Given the description of an element on the screen output the (x, y) to click on. 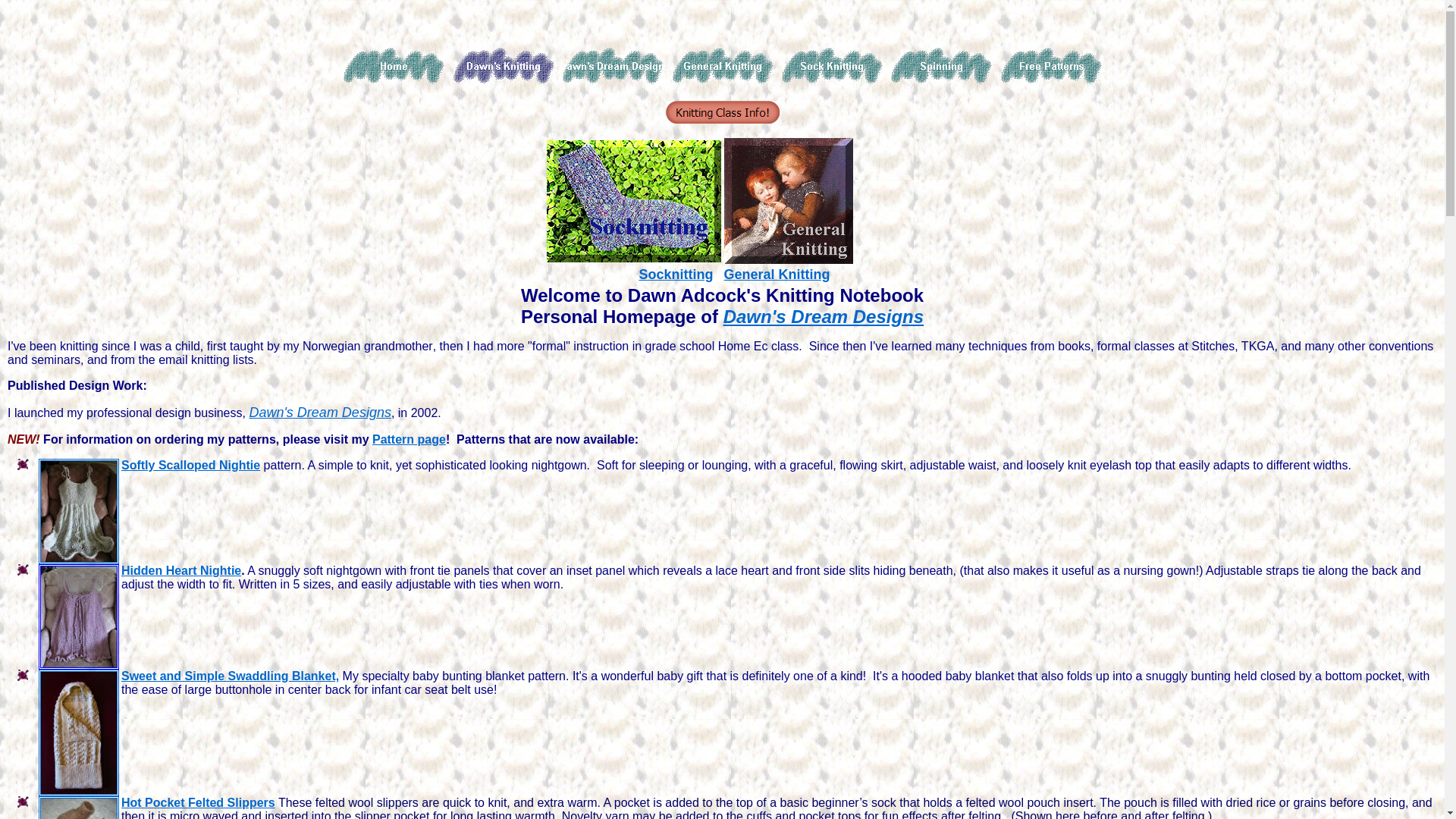
Dawn's Dream Designs Element type: text (823, 316)
Socknitting Element type: text (675, 274)
Hot Pocket Felted Slippers Element type: text (198, 802)
Softly Scalloped Nightie Element type: text (190, 464)
Dawn's Dream Designs Element type: text (319, 412)
Sweet and Simple Swaddling Blanket, Element type: text (229, 675)
General Knitting Element type: text (776, 274)
Pattern page Element type: text (408, 439)
Hidden Heart Nightie Element type: text (181, 570)
